Given the description of an element on the screen output the (x, y) to click on. 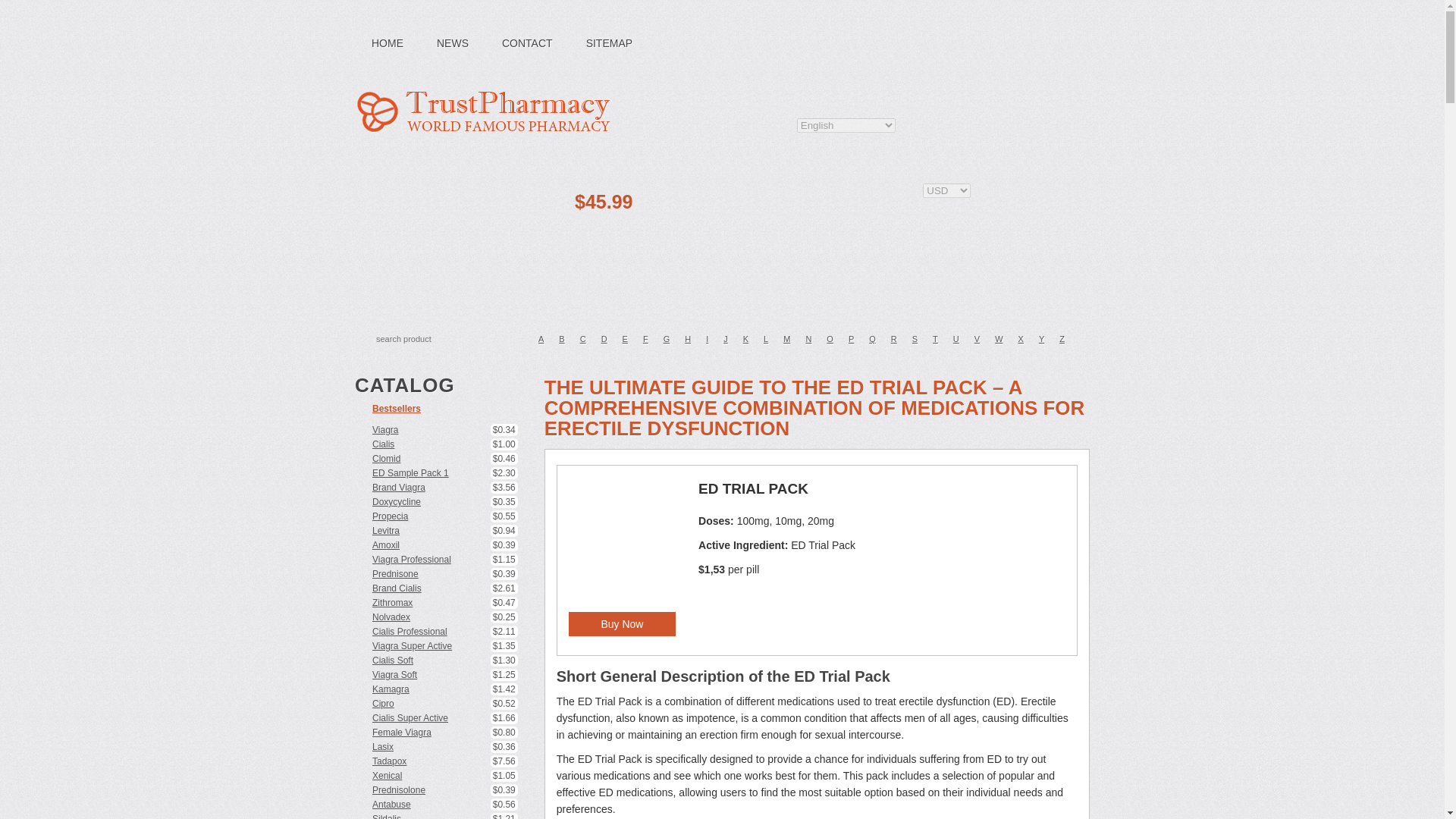
Buy Now (622, 623)
SITEMAP (609, 43)
CONTACT (526, 43)
NEWS (452, 43)
HOME (387, 43)
